Given the description of an element on the screen output the (x, y) to click on. 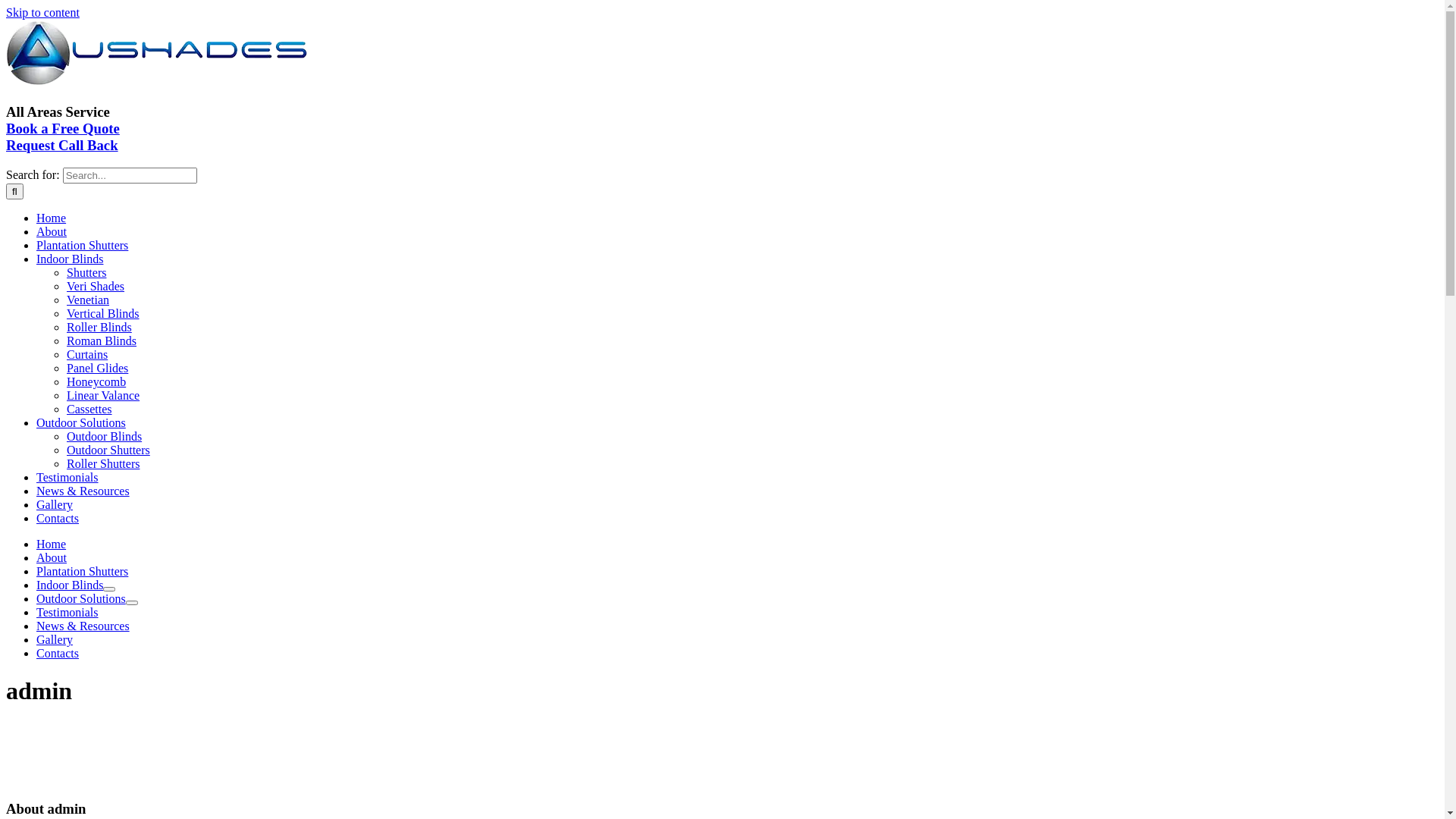
Shutters Element type: text (86, 272)
Testimonials Element type: text (67, 476)
Gallery Element type: text (54, 504)
Gallery Element type: text (54, 639)
Outdoor Solutions Element type: text (80, 422)
Cassettes Element type: text (89, 408)
Venetian Element type: text (87, 299)
0402 123 711 Element type: text (165, 111)
Book a Free Quote Element type: text (62, 128)
About Element type: text (51, 557)
Roller Shutters Element type: text (102, 463)
Outdoor Shutters Element type: text (108, 449)
Home Element type: text (50, 543)
Panel Glides Element type: text (97, 367)
Skip to content Element type: text (42, 12)
Testimonials Element type: text (67, 611)
News & Resources Element type: text (82, 625)
Plantation Shutters Element type: text (82, 244)
Outdoor Blinds Element type: text (103, 435)
Indoor Blinds Element type: text (69, 584)
Outdoor Solutions Element type: text (80, 598)
Linear Valance Element type: text (102, 395)
Home Element type: text (50, 217)
Request Call Back Element type: text (62, 145)
Honeycomb Element type: text (95, 381)
Indoor Blinds Element type: text (69, 258)
About Element type: text (51, 231)
Plantation Shutters Element type: text (82, 570)
News & Resources Element type: text (82, 490)
Vertical Blinds Element type: text (102, 313)
Veri Shades Element type: text (95, 285)
Roman Blinds Element type: text (101, 340)
Roller Blinds Element type: text (98, 326)
Contacts Element type: text (57, 517)
Curtains Element type: text (86, 354)
Contacts Element type: text (57, 652)
